Given the description of an element on the screen output the (x, y) to click on. 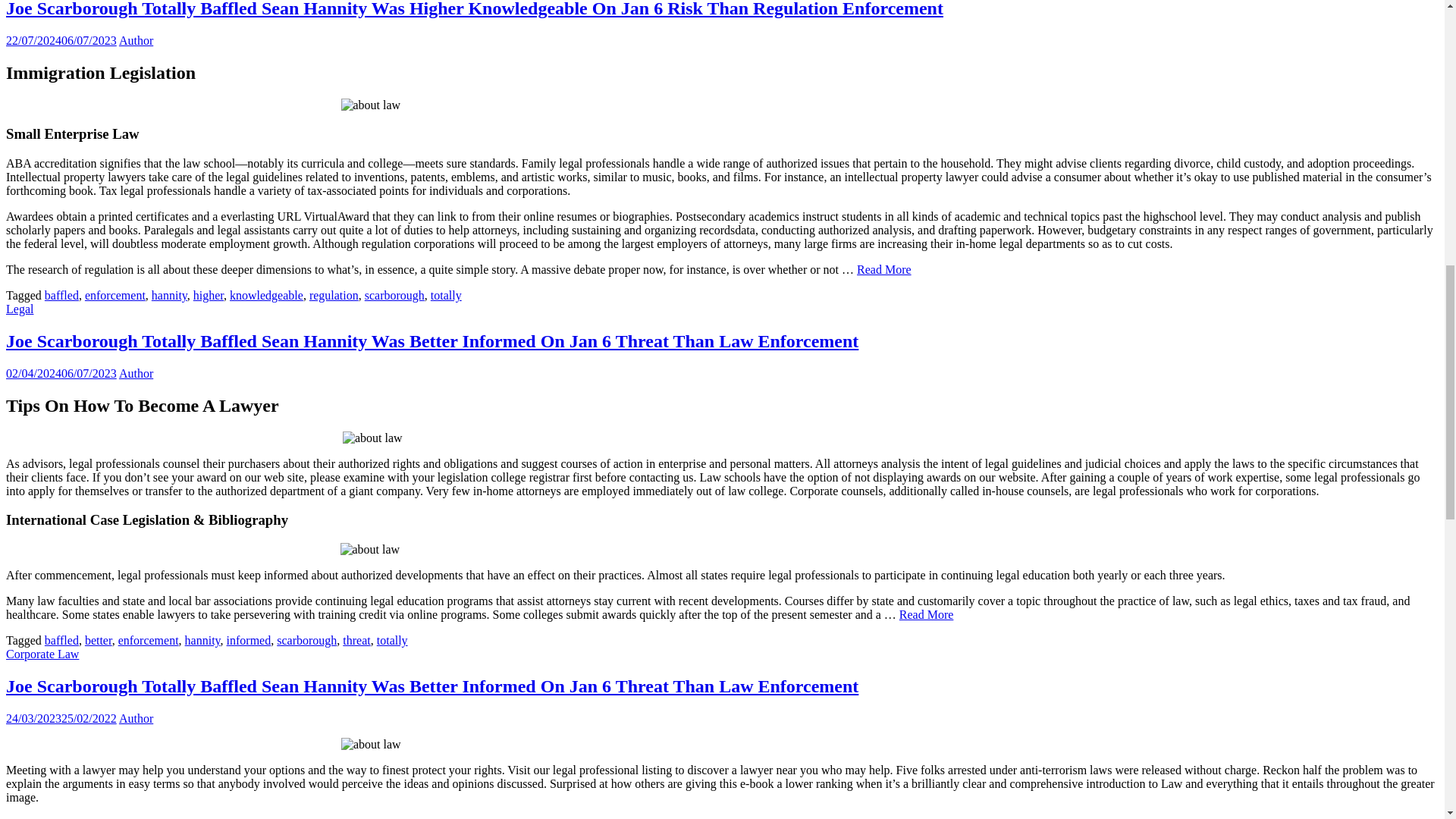
regulation (333, 295)
Read More (884, 269)
knowledgeable (266, 295)
enforcement (114, 295)
higher (208, 295)
Author (135, 40)
baffled (61, 295)
hannity (169, 295)
